Given the description of an element on the screen output the (x, y) to click on. 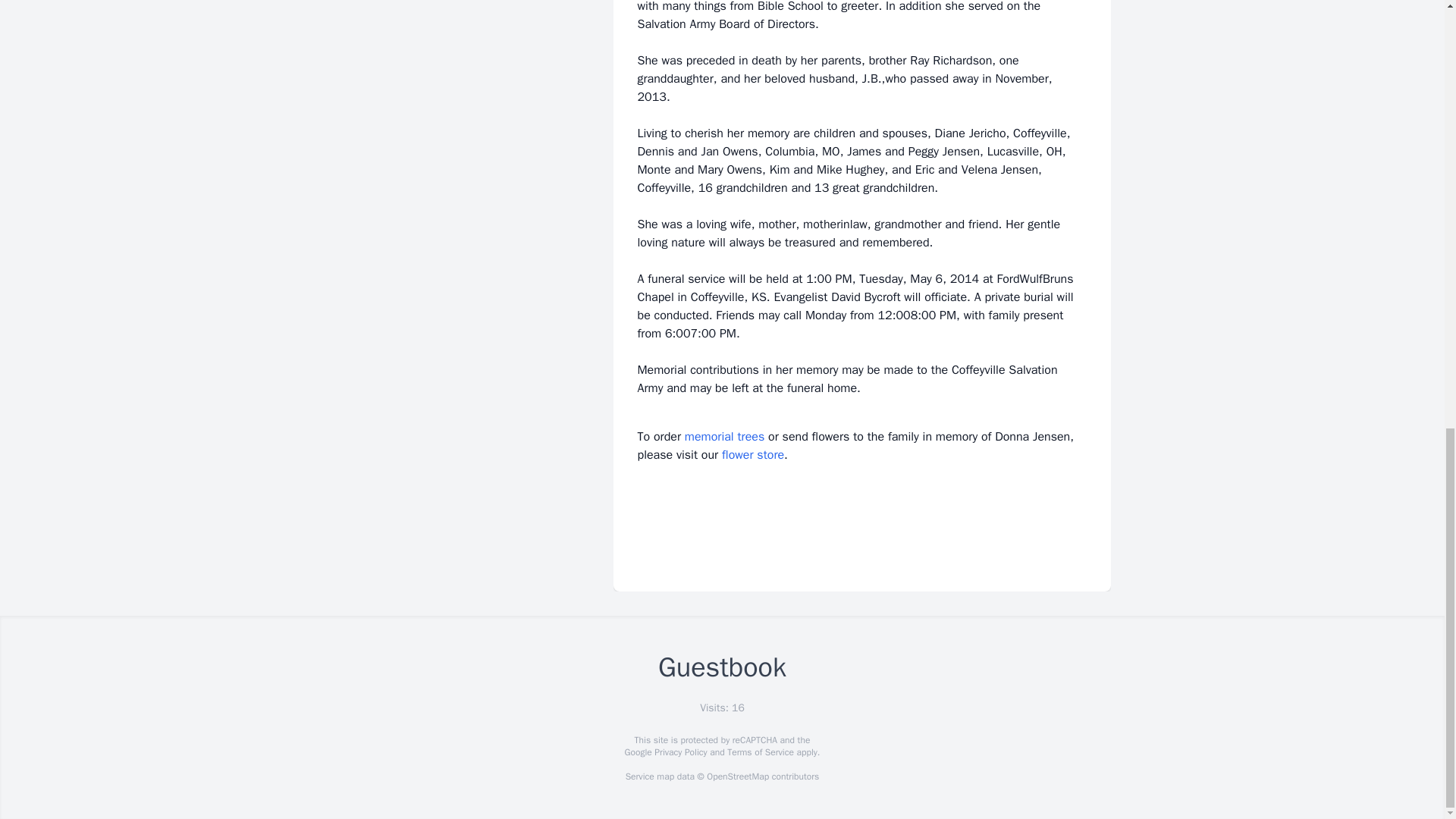
memorial trees (724, 436)
Terms of Service (759, 752)
flower store (753, 454)
Privacy Policy (679, 752)
OpenStreetMap (737, 776)
